Given the description of an element on the screen output the (x, y) to click on. 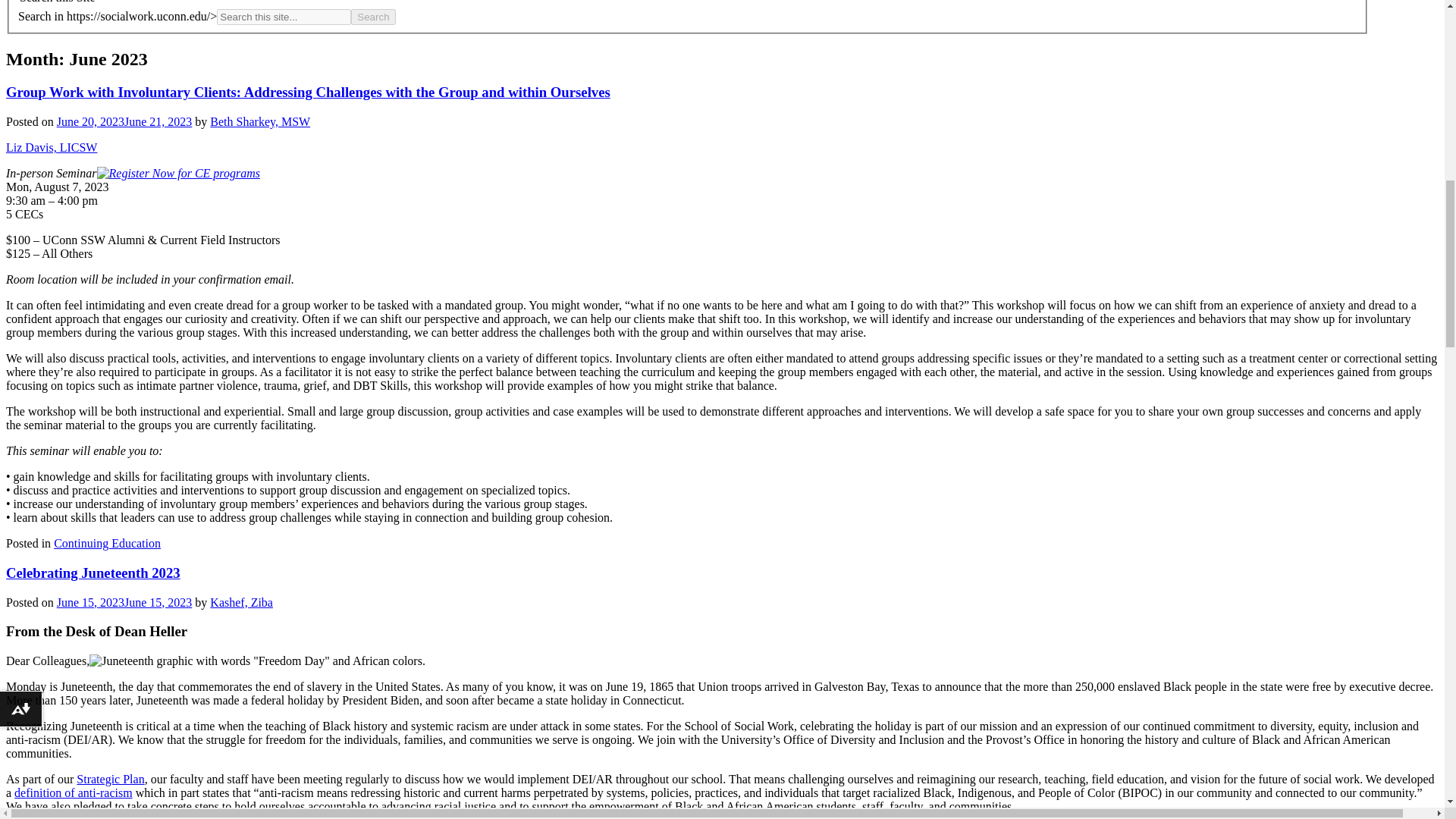
Posts by Beth Sharkey, MSW (259, 121)
Search (372, 17)
Search this site...  (283, 17)
Posts by Kashef, Ziba (241, 602)
